Given the description of an element on the screen output the (x, y) to click on. 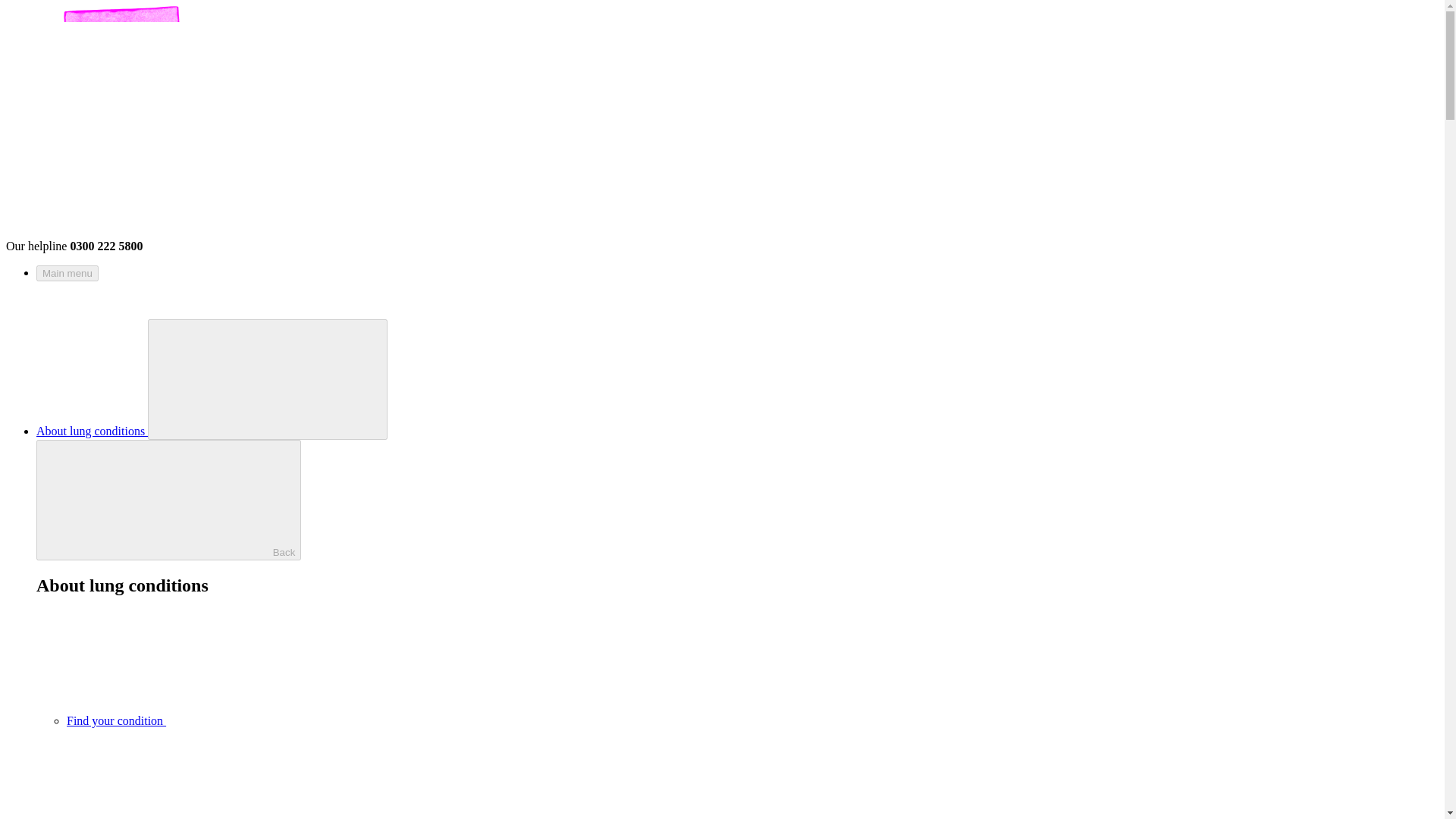
Find your condition (229, 720)
About lung conditions (92, 431)
Find your condition (229, 720)
Main menu (67, 273)
Back (168, 499)
Homepage (126, 232)
About lung conditions (92, 431)
